Given the description of an element on the screen output the (x, y) to click on. 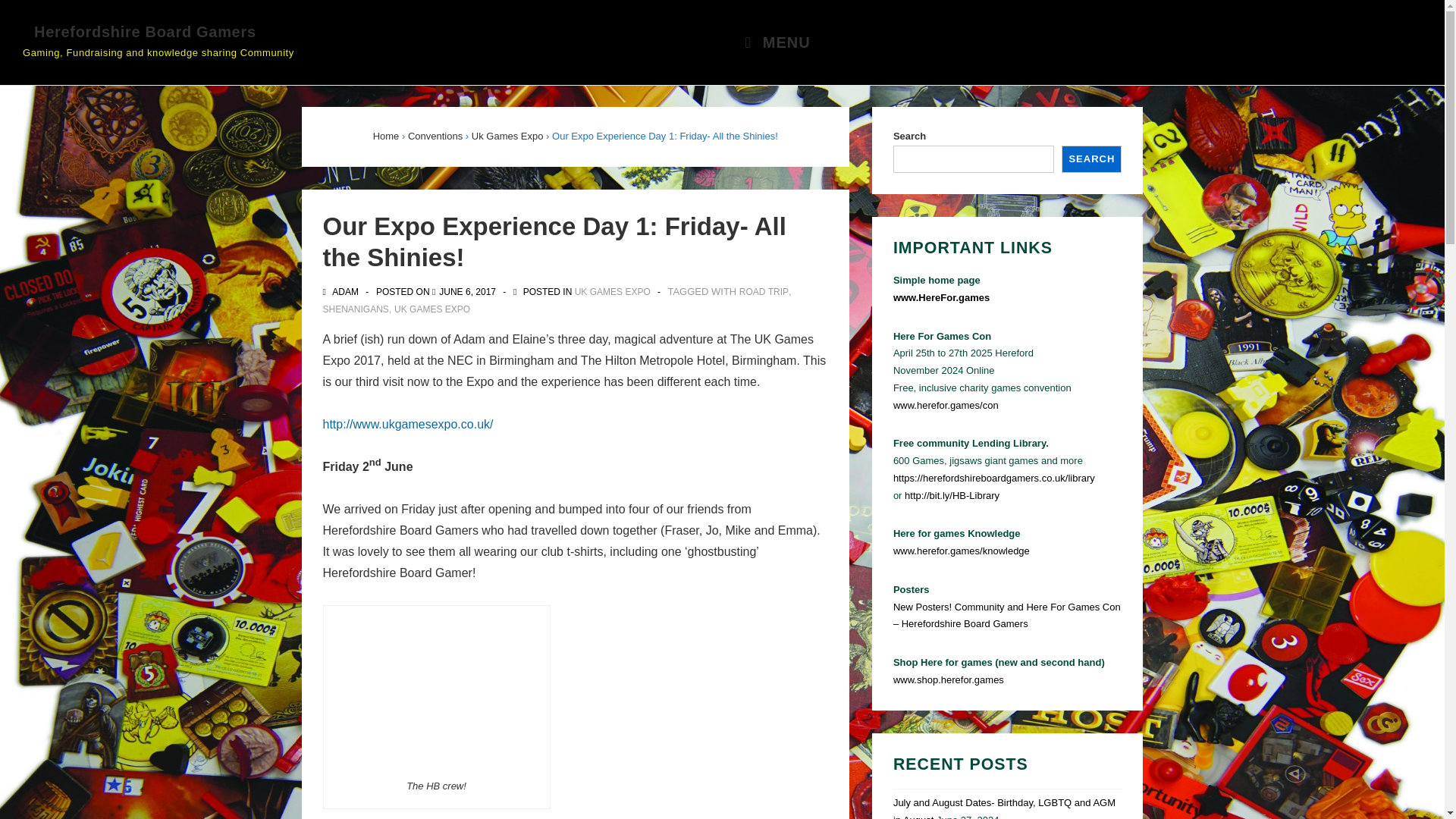
Our Expo Experience Day 1: Friday- All the Shinies! (771, 42)
Herefordshire Board Gamers (467, 291)
View all posts by Adam (144, 31)
